Given the description of an element on the screen output the (x, y) to click on. 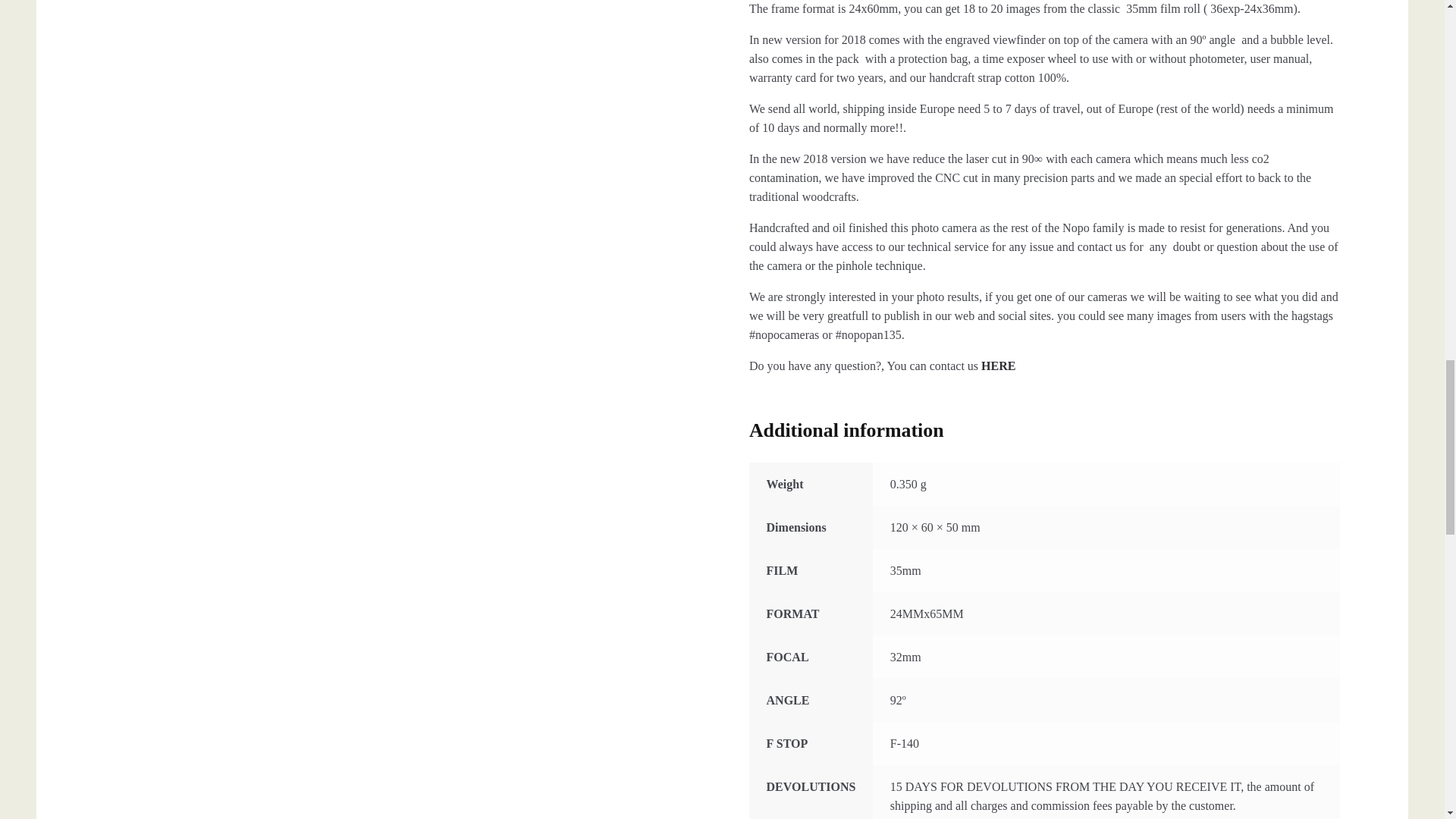
HERE (997, 365)
